Given the description of an element on the screen output the (x, y) to click on. 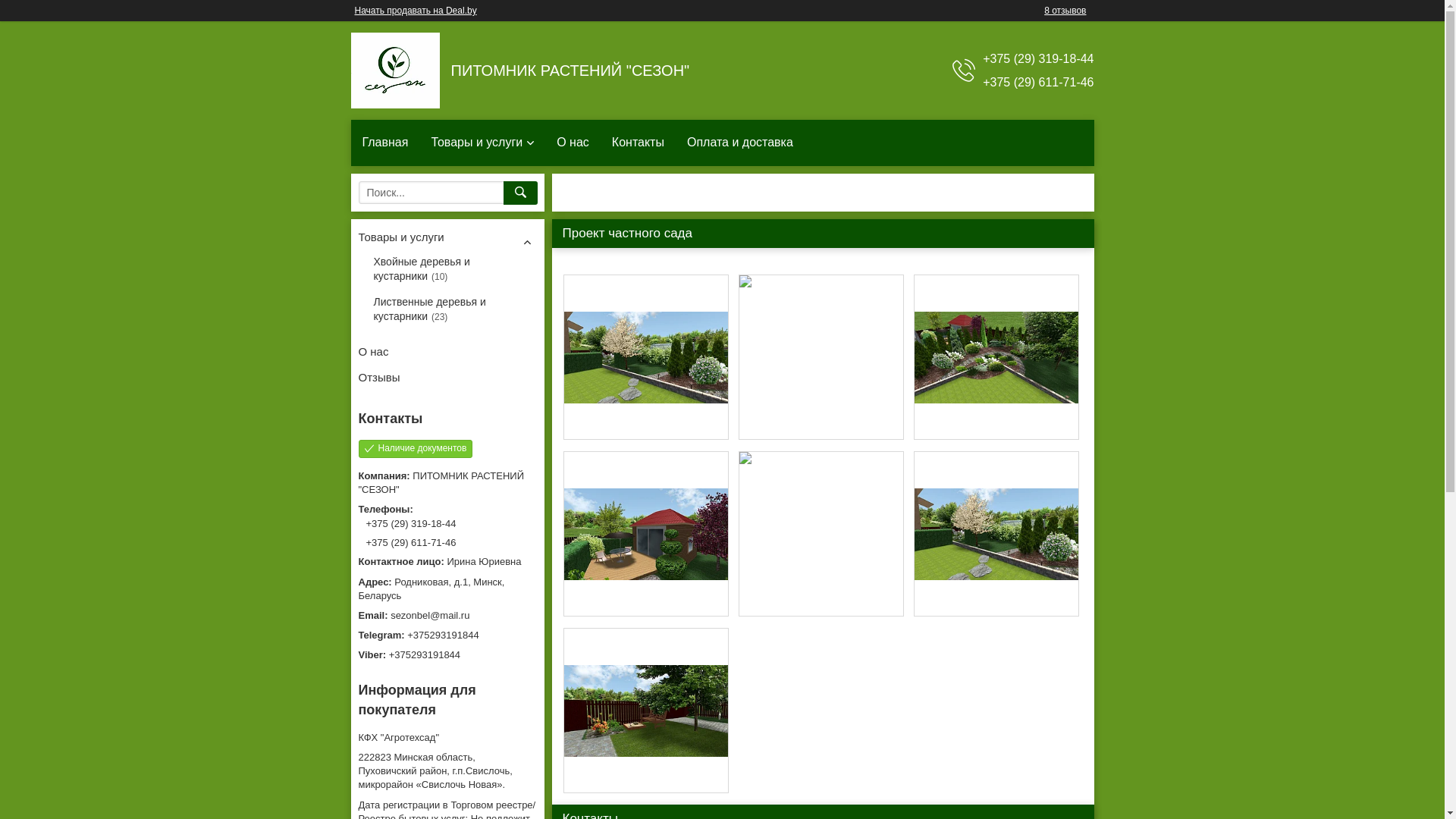
sezonbel@mail.ru Element type: text (446, 615)
